Given the description of an element on the screen output the (x, y) to click on. 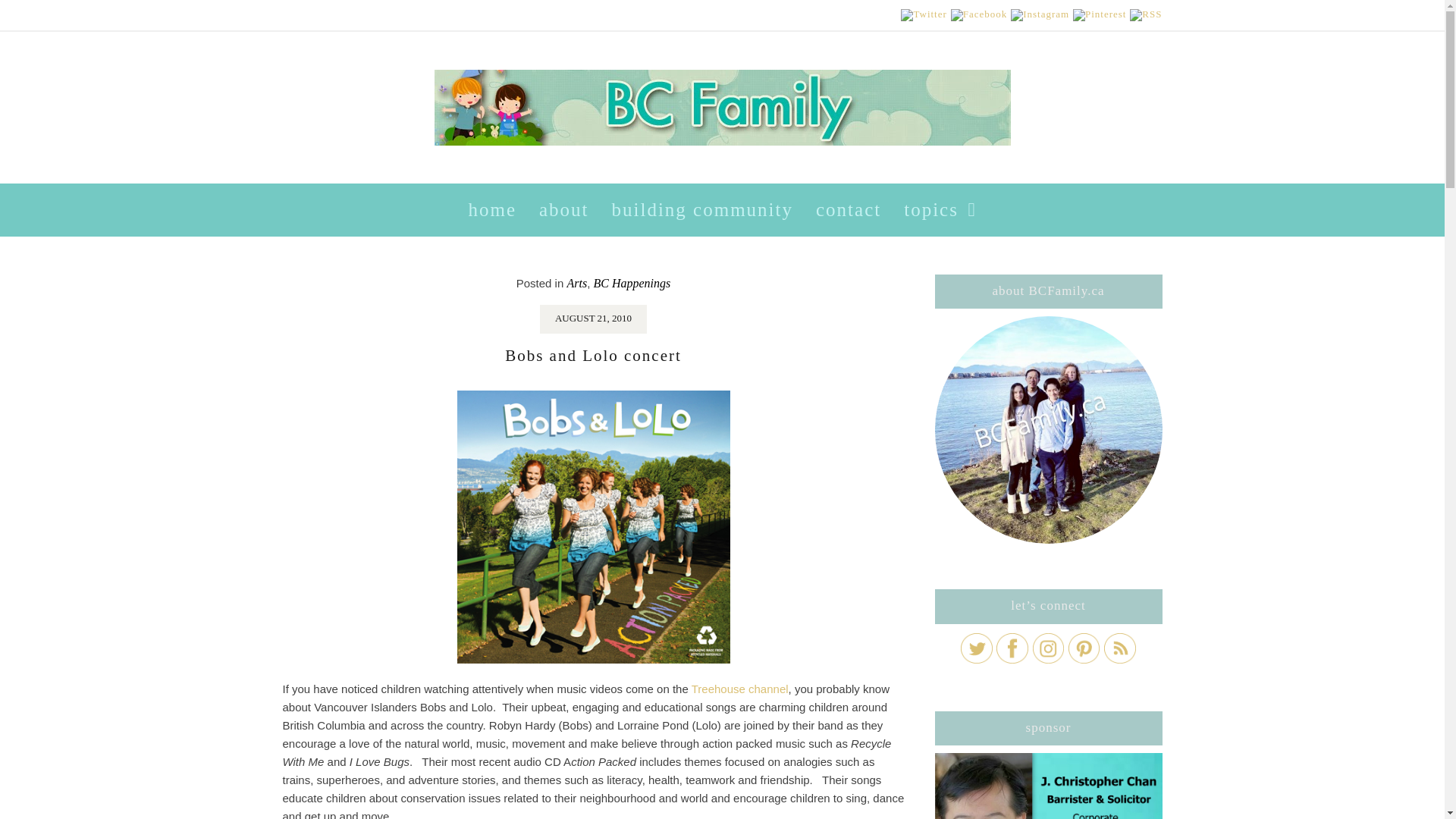
about (563, 209)
topics (939, 209)
2010 august 21 bobs and lolo (593, 526)
home (492, 209)
AUGUST 21, 2010 (592, 317)
BC Happenings (630, 282)
contact (848, 209)
Arts (576, 282)
building community (702, 209)
